Given the description of an element on the screen output the (x, y) to click on. 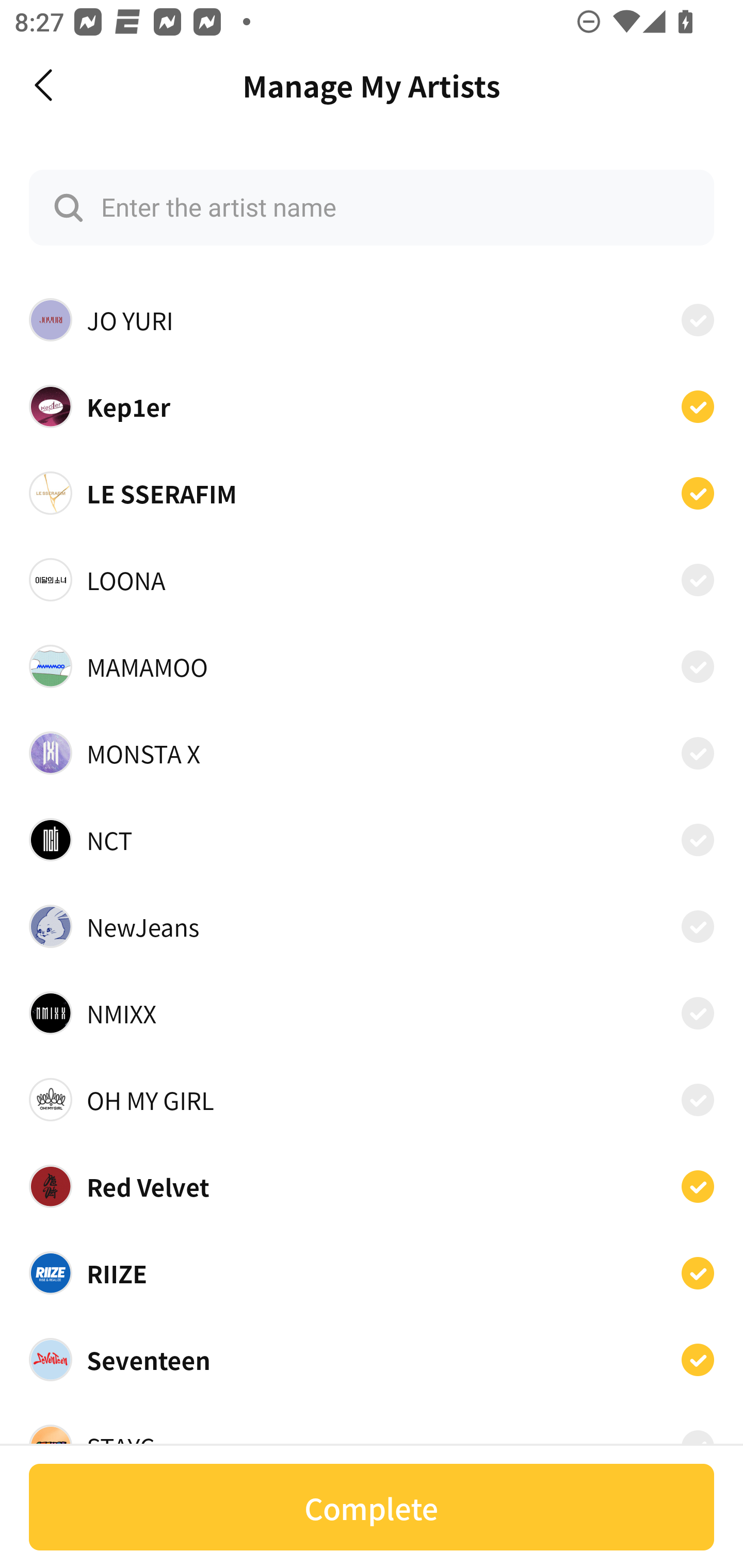
Enter the artist name (371, 207)
JO YURI (371, 319)
Kep1er (371, 406)
LE SSERAFIM (371, 492)
LOONA (371, 580)
MAMAMOO (371, 666)
MONSTA X (371, 752)
NCT (371, 839)
NewJeans (371, 926)
NMIXX (371, 1012)
OH MY GIRL (371, 1099)
Red Velvet (371, 1186)
RIIZE (371, 1273)
Seventeen (371, 1359)
Complete (371, 1507)
